Given the description of an element on the screen output the (x, y) to click on. 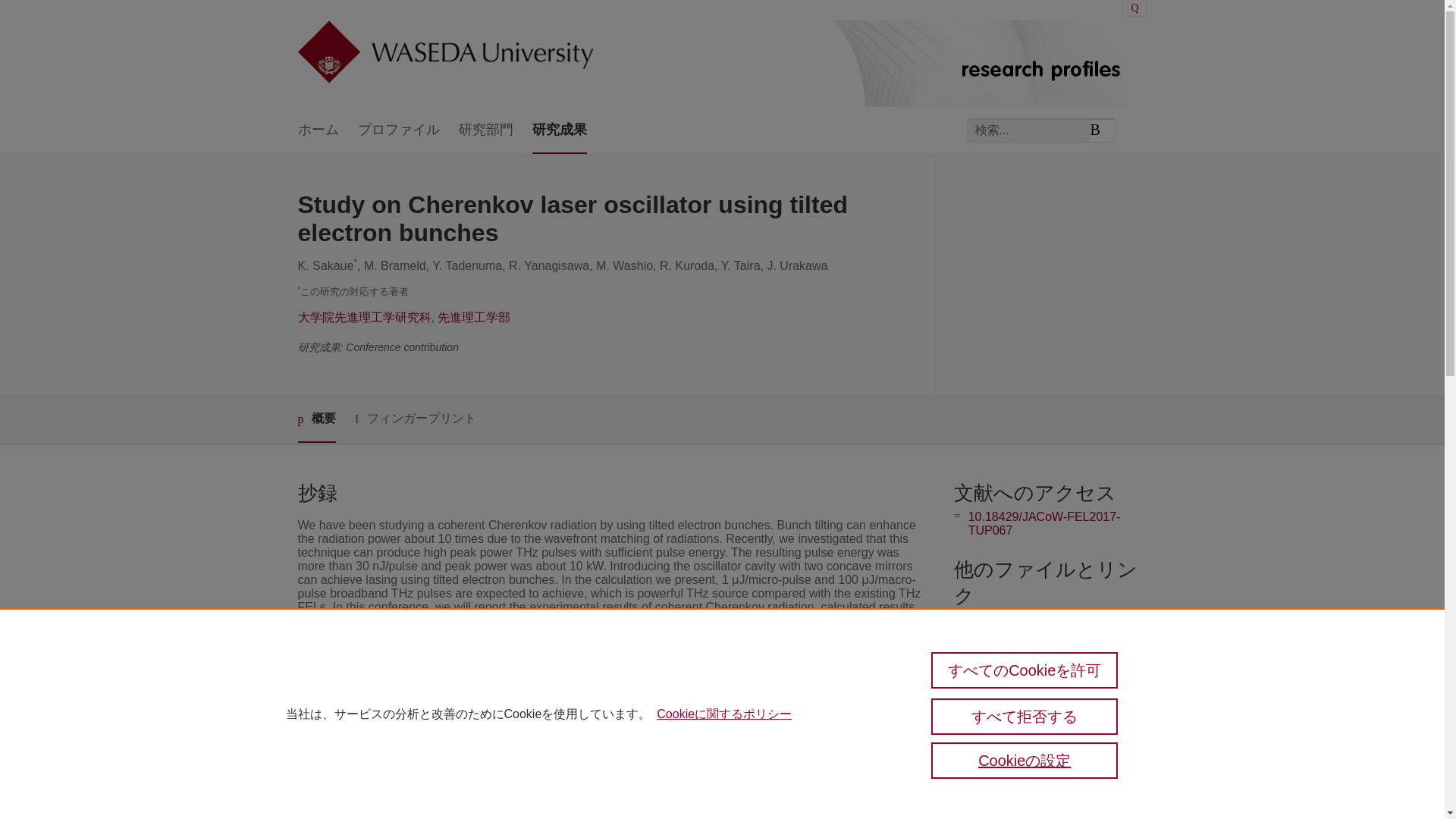
38th International Free-Electron Laser Conference, FEL 2017 (667, 810)
!!Link to publication in Scopus (1048, 619)
JACoW Publishing (560, 716)
!!Link to the citations in Scopus (1051, 644)
